Given the description of an element on the screen output the (x, y) to click on. 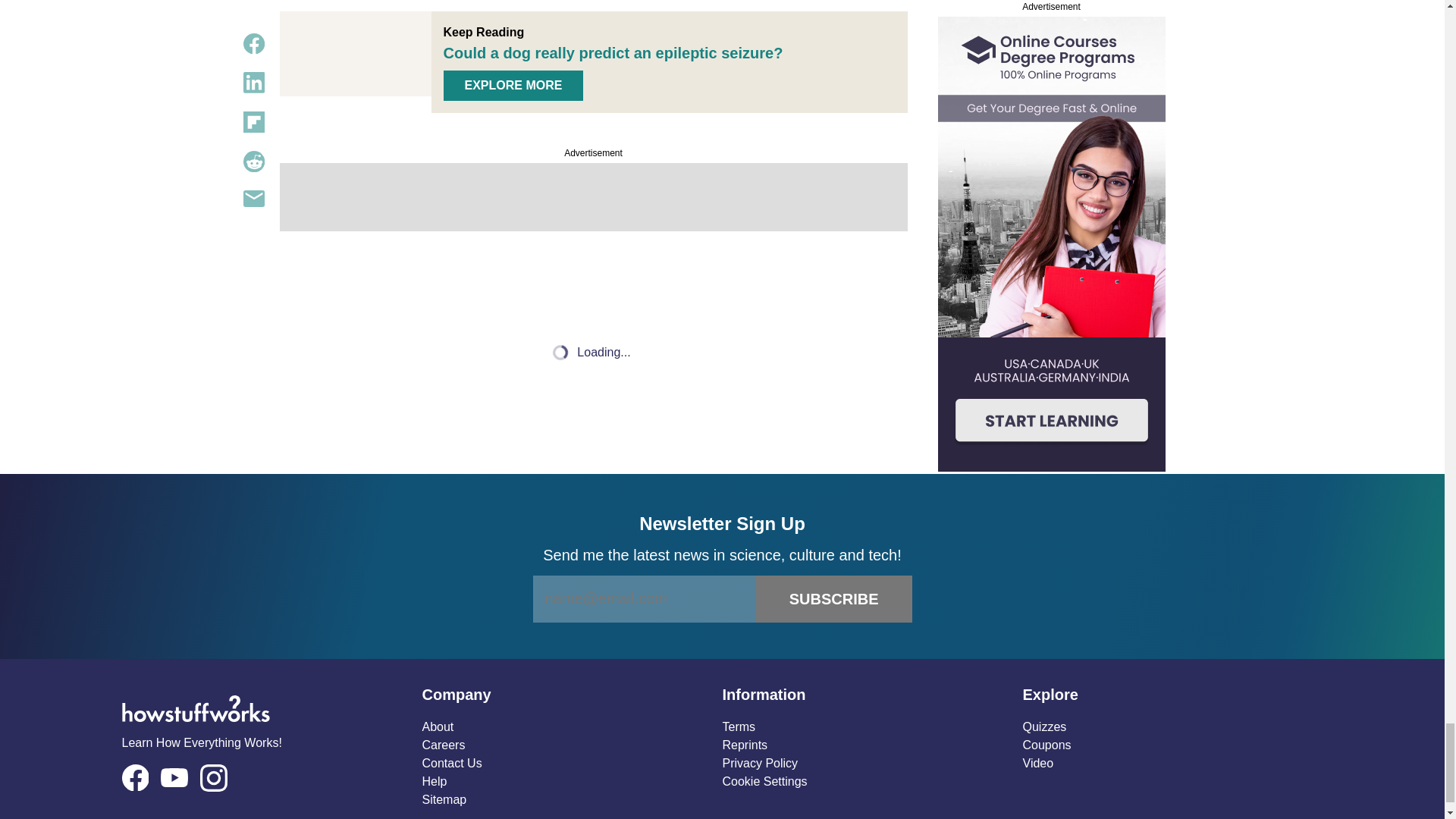
Subscribe (833, 598)
Visit HowStuffWorks on Instagram (213, 777)
Visit HowStuffWorks on YouTube (173, 777)
Visit HowStuffWorks on Facebook (134, 777)
